Given the description of an element on the screen output the (x, y) to click on. 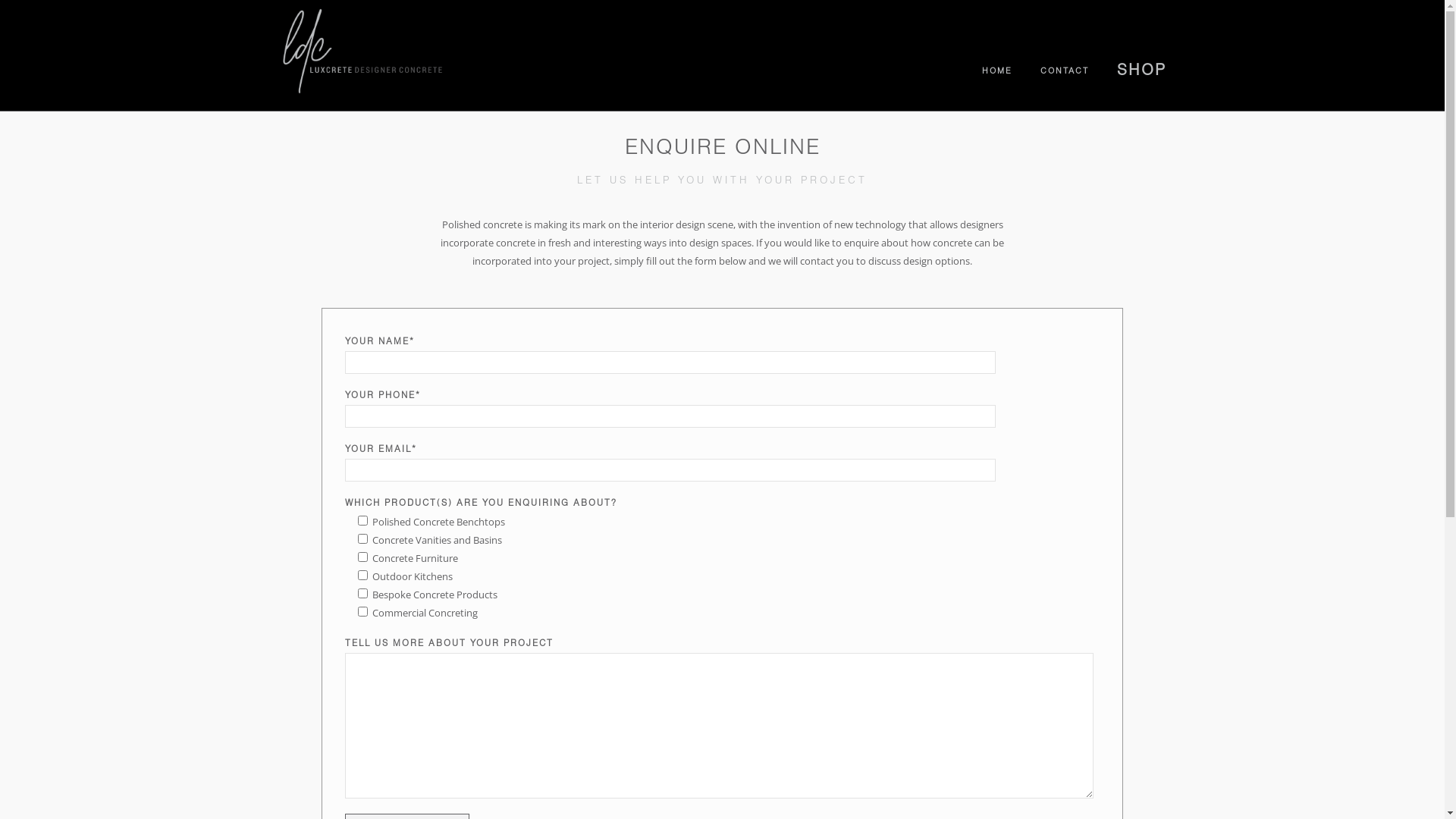
SHOP Element type: text (1140, 71)
CONTACT Element type: text (1064, 71)
HOME Element type: text (996, 71)
